Given the description of an element on the screen output the (x, y) to click on. 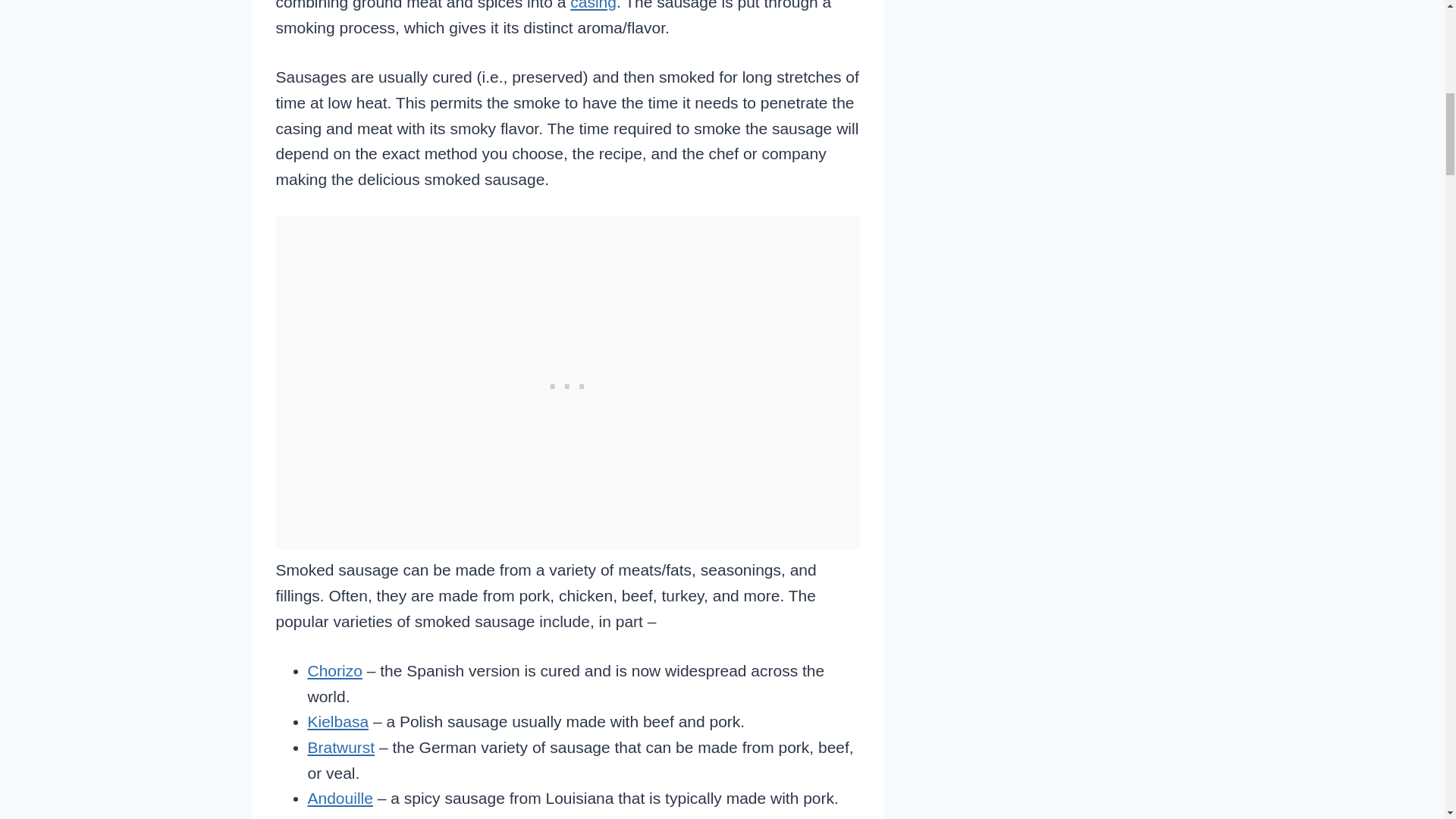
Andouille (339, 797)
Bratwurst (341, 746)
casing (592, 5)
Kielbasa (338, 721)
Chorizo (334, 670)
